Given the description of an element on the screen output the (x, y) to click on. 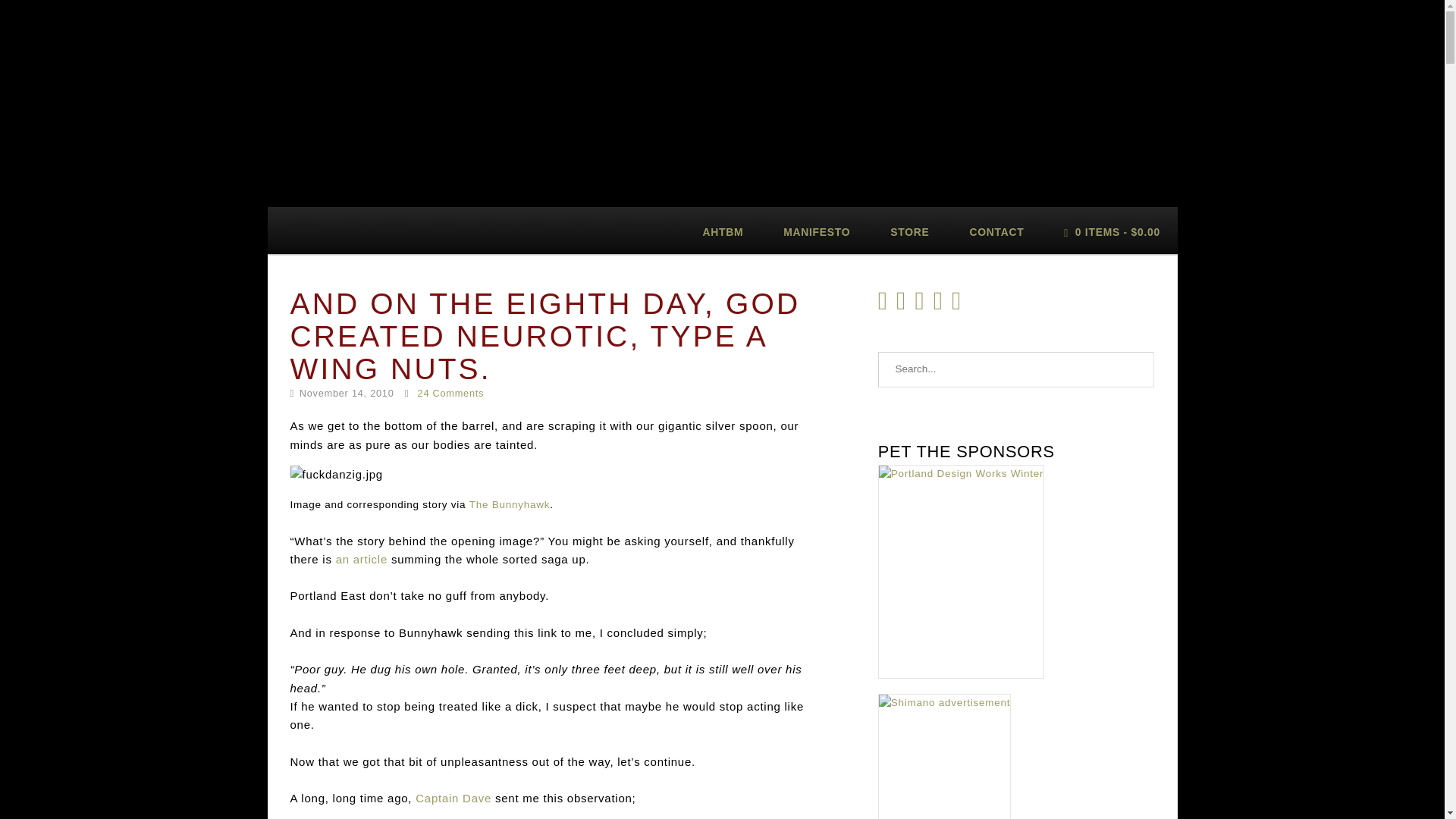
an article (361, 558)
24 Comments (450, 392)
Search (1136, 370)
Search (1136, 370)
MANIFESTO (817, 230)
AHTBM (722, 230)
CONTACT (996, 230)
Captain Dave (453, 797)
View your shopping cart (1111, 230)
STORE (909, 230)
